Given the description of an element on the screen output the (x, y) to click on. 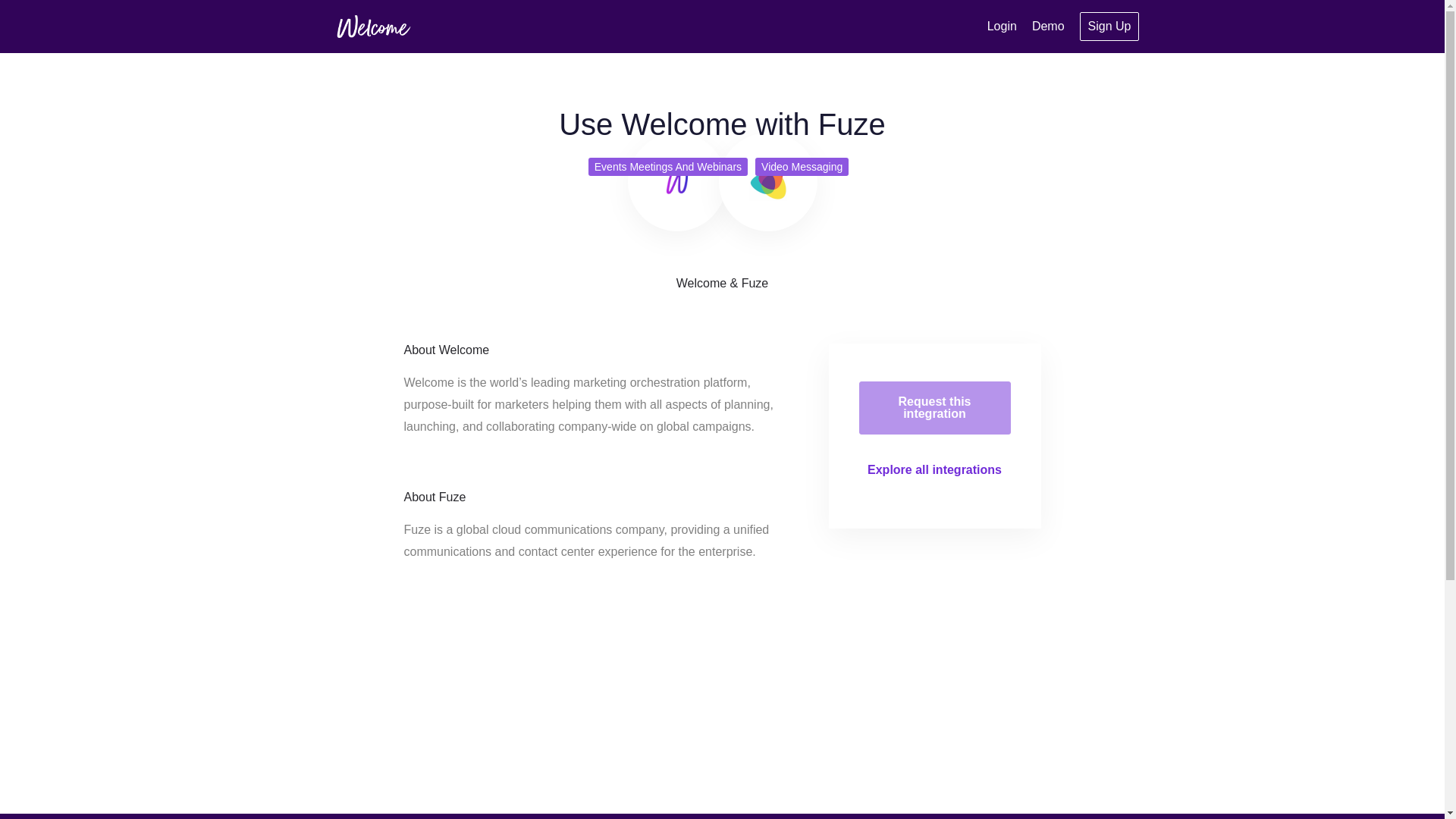
Login (1001, 25)
Fuze (768, 181)
Request this integration (934, 407)
Welcome (676, 181)
Demo (1048, 25)
Explore all integrations (934, 469)
Welcome (372, 26)
Sign Up (1110, 26)
